Given the description of an element on the screen output the (x, y) to click on. 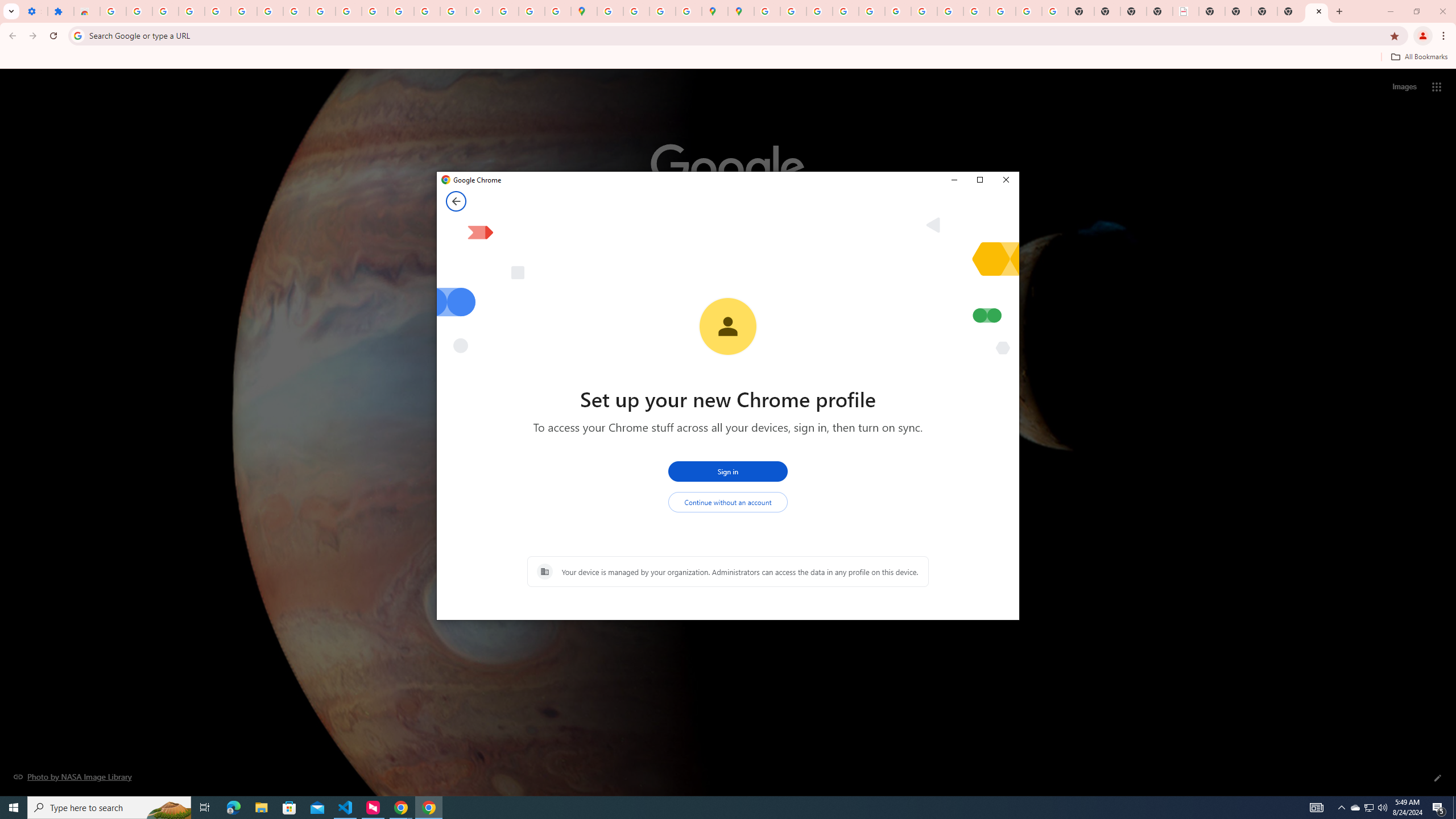
Google Chrome - 2 running windows (400, 807)
Google Account (296, 11)
Sign in - Google Accounts (243, 11)
Delete photos & videos - Computer - Google Photos Help (165, 11)
New Tab (1290, 11)
Continue without an account (727, 502)
Action Center, 5 new notifications (1439, 807)
YouTube (322, 11)
File Explorer (261, 807)
